Given the description of an element on the screen output the (x, y) to click on. 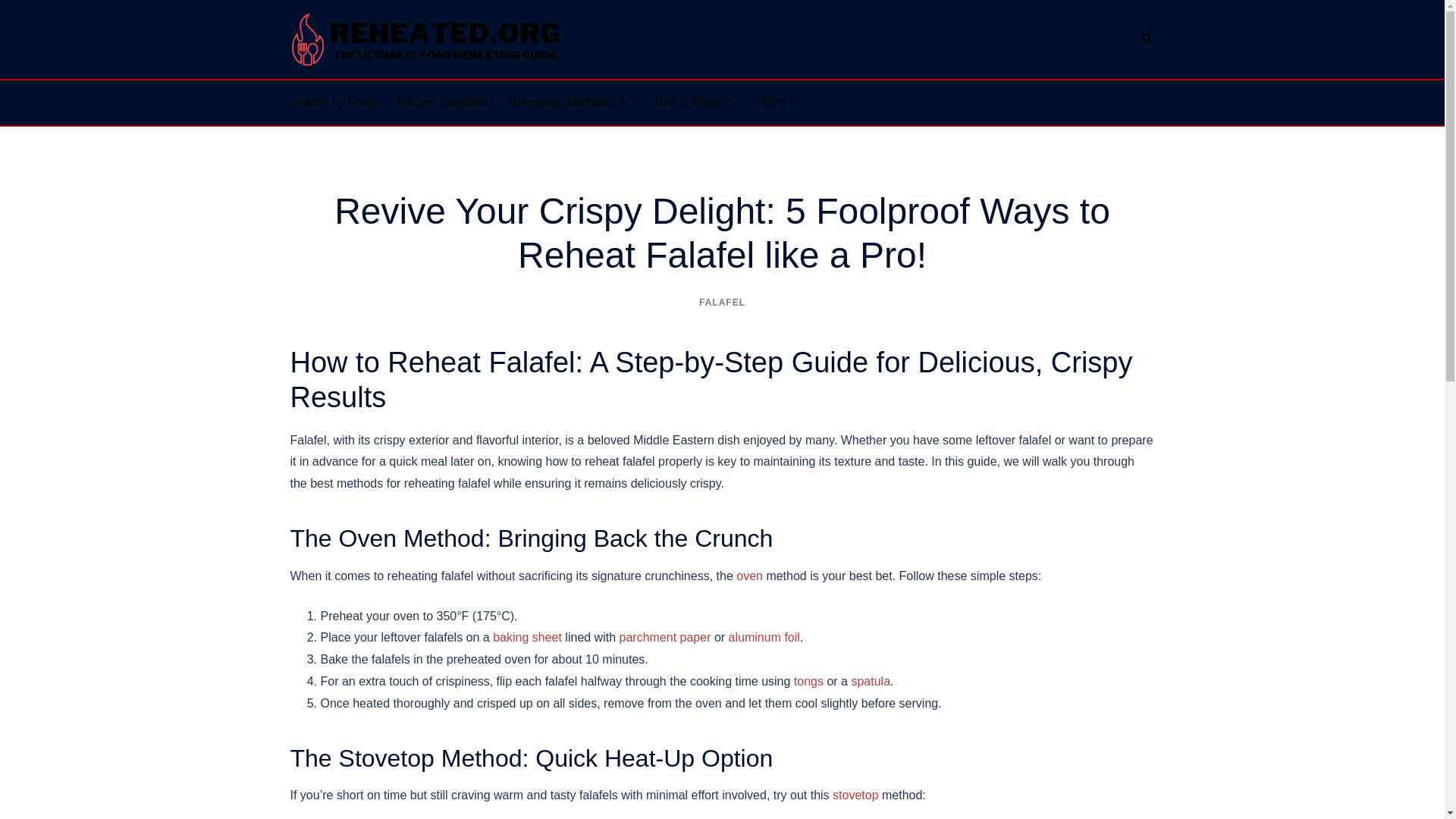
Search by Food (332, 102)
oven (749, 575)
Blog (773, 102)
baking sheet (527, 636)
parchment paper (665, 636)
Reheated.org (425, 38)
stovetop (854, 794)
aluminum foil (764, 636)
Reheating Methods (561, 102)
spatula (869, 680)
tongs (808, 680)
Search (1147, 39)
Kitchen Supplies (441, 102)
